Given the description of an element on the screen output the (x, y) to click on. 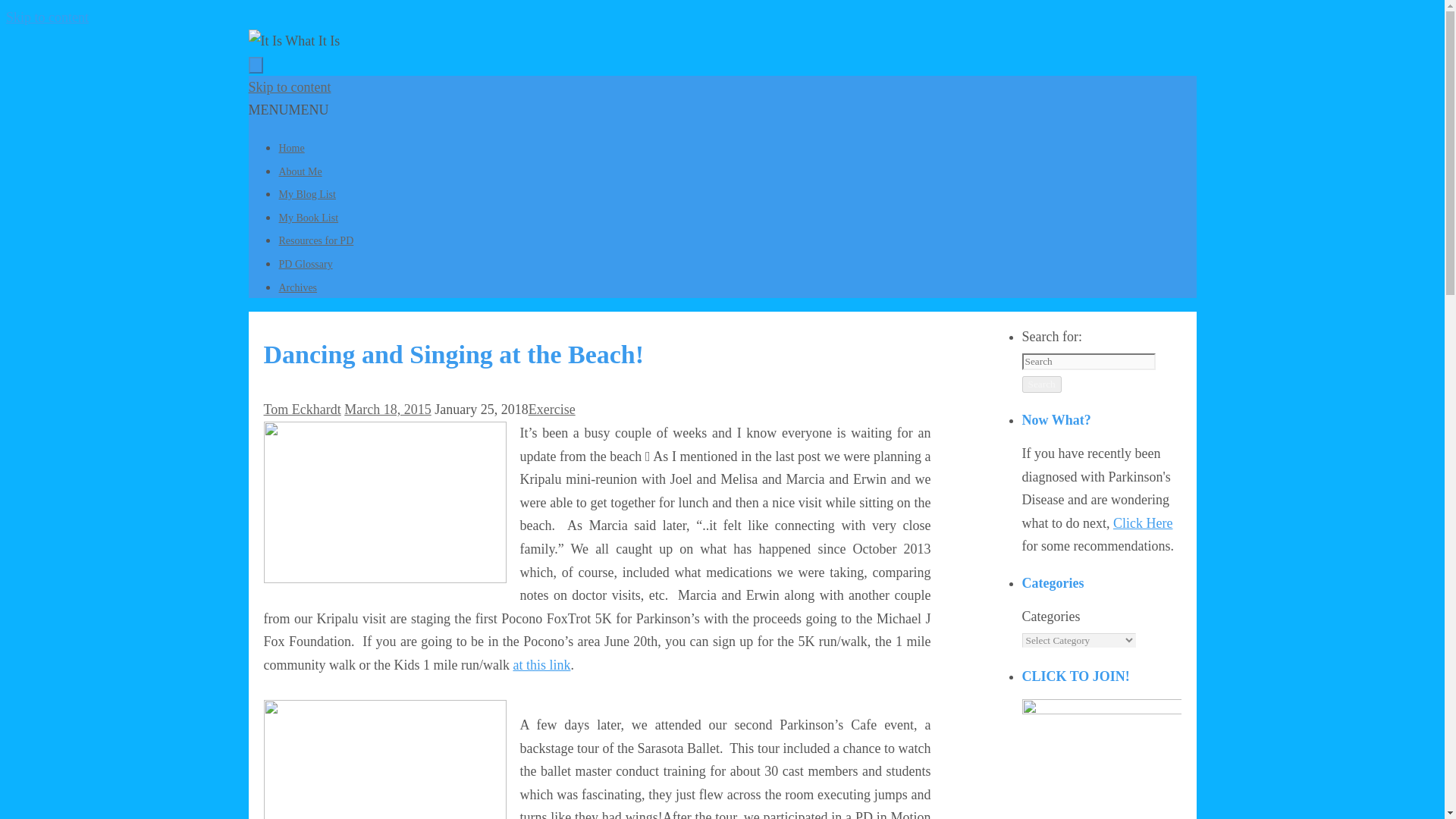
Skip to content (289, 87)
About Me (300, 171)
at this link (541, 664)
Tom Eckhardt (301, 409)
It Is What It Is (722, 41)
Search (1041, 384)
Resources for PD (316, 240)
PD Glossary (306, 264)
March 18, 2015 (386, 409)
My Book List (309, 217)
Skip to content (289, 87)
Exercise (551, 409)
My Blog List (307, 194)
Home (291, 147)
Skip to content (46, 17)
